Given the description of an element on the screen output the (x, y) to click on. 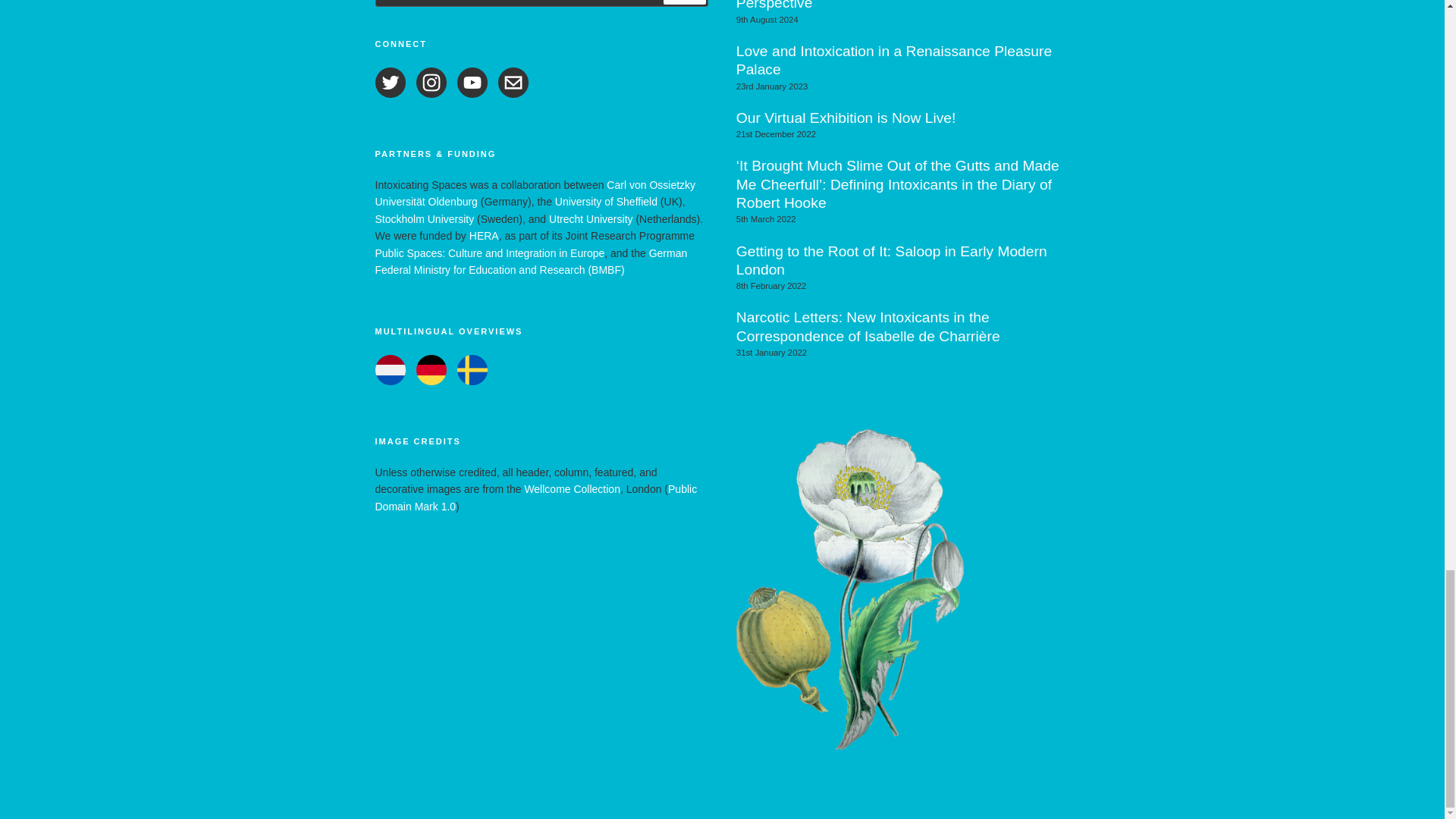
Utrecht University (589, 218)
Search (684, 2)
Wellcome Collection (572, 489)
Stockholm University (424, 218)
Public Spaces: Culture and Integration in Europe (489, 253)
HERA (483, 235)
University of Sheffield (606, 201)
